Given the description of an element on the screen output the (x, y) to click on. 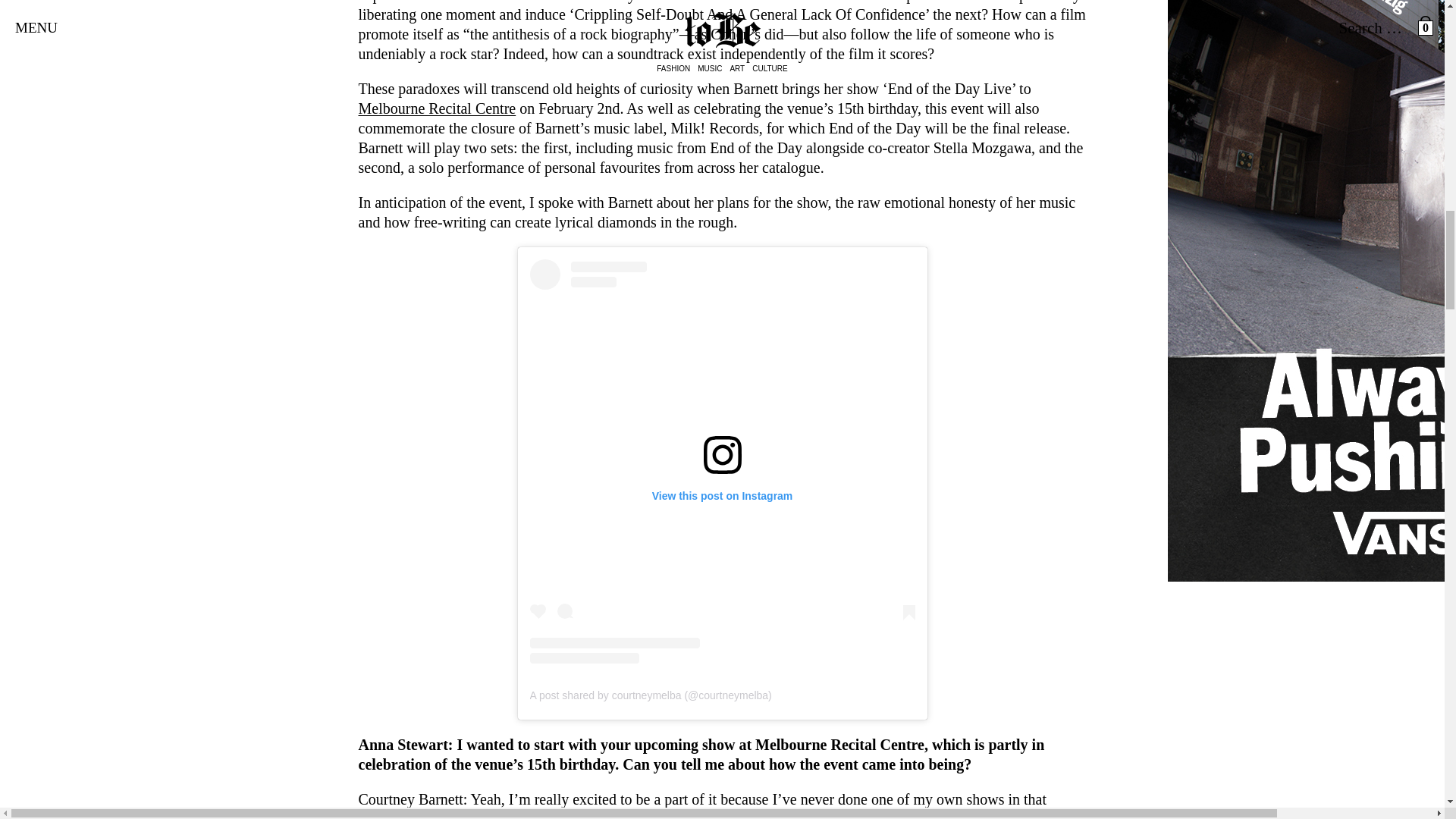
Melbourne Recital Centre (436, 108)
